Given the description of an element on the screen output the (x, y) to click on. 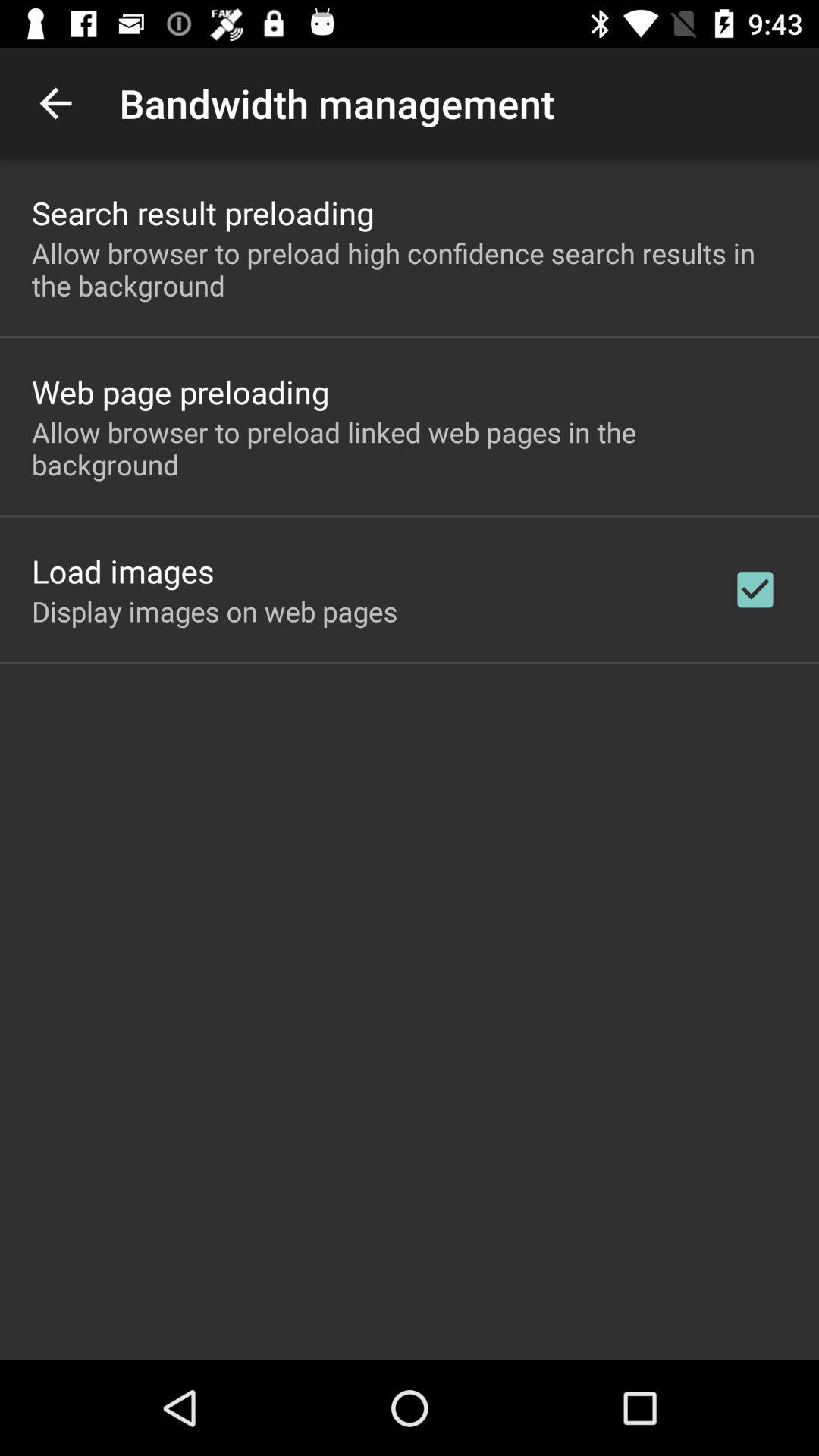
turn off the display images on app (214, 611)
